Given the description of an element on the screen output the (x, y) to click on. 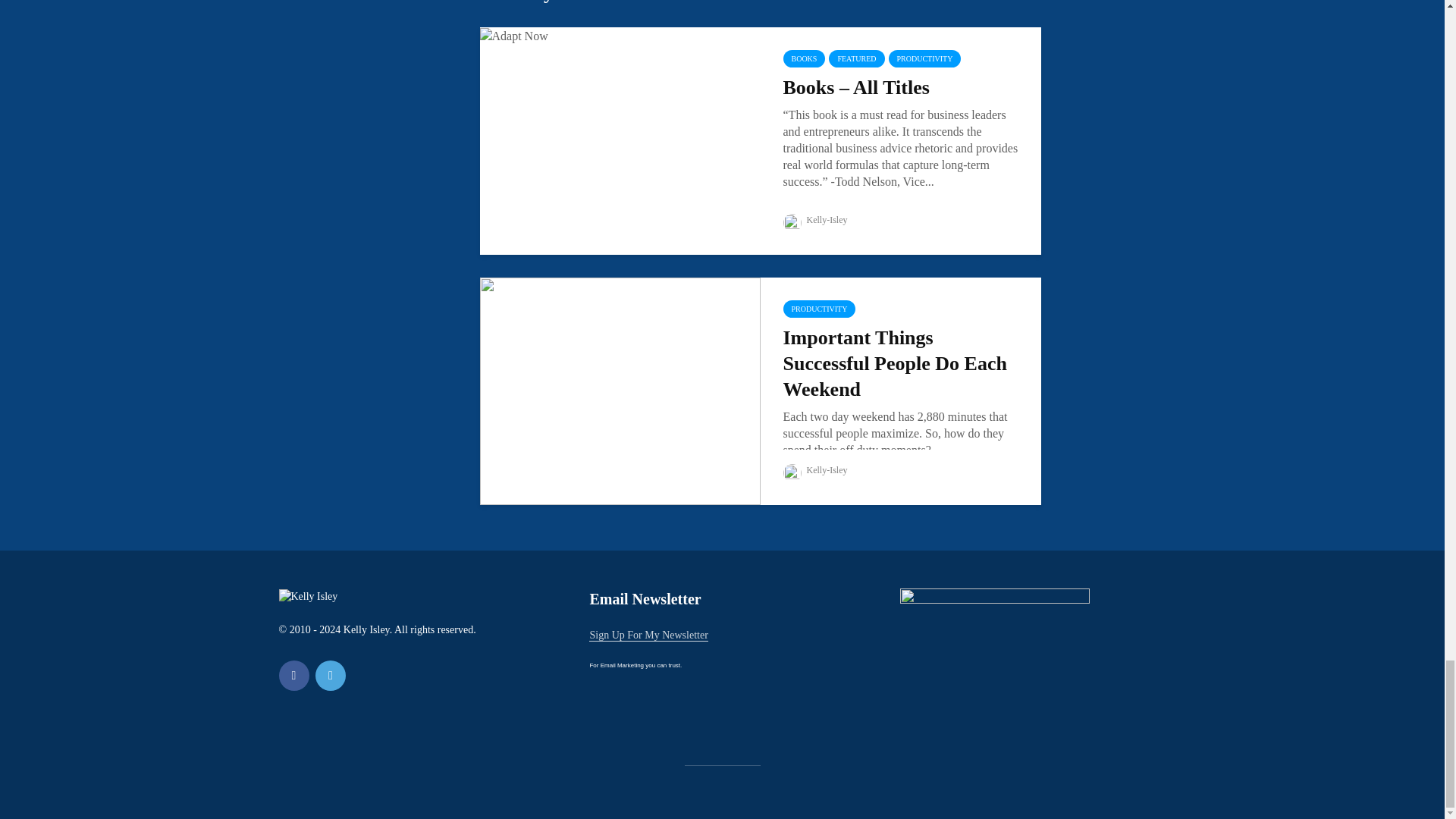
Twitter (330, 675)
Facebook (293, 675)
Important Things Successful People Do Each Weekend (619, 390)
